Given the description of an element on the screen output the (x, y) to click on. 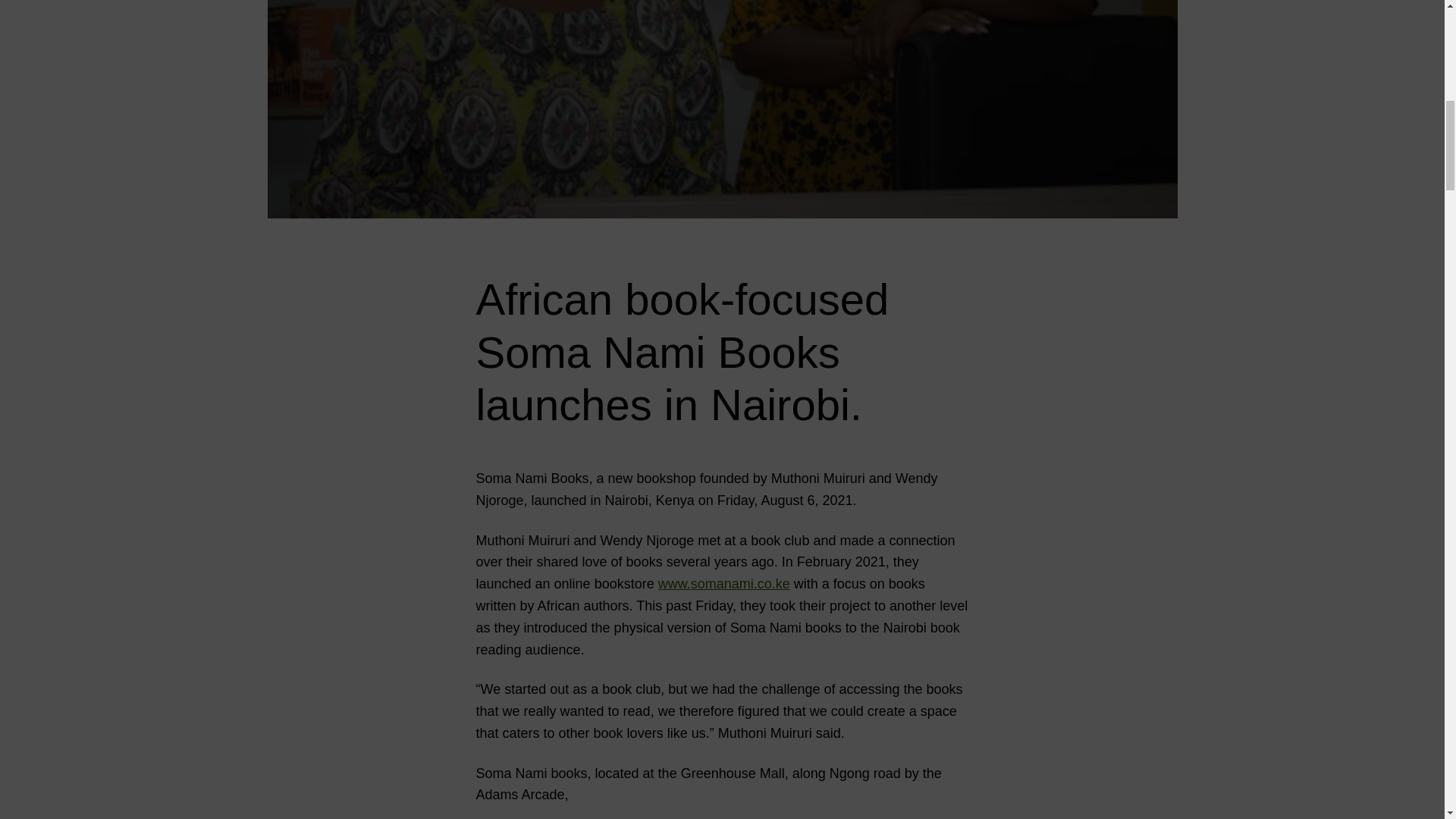
www.somanami.co.ke (724, 583)
